Given the description of an element on the screen output the (x, y) to click on. 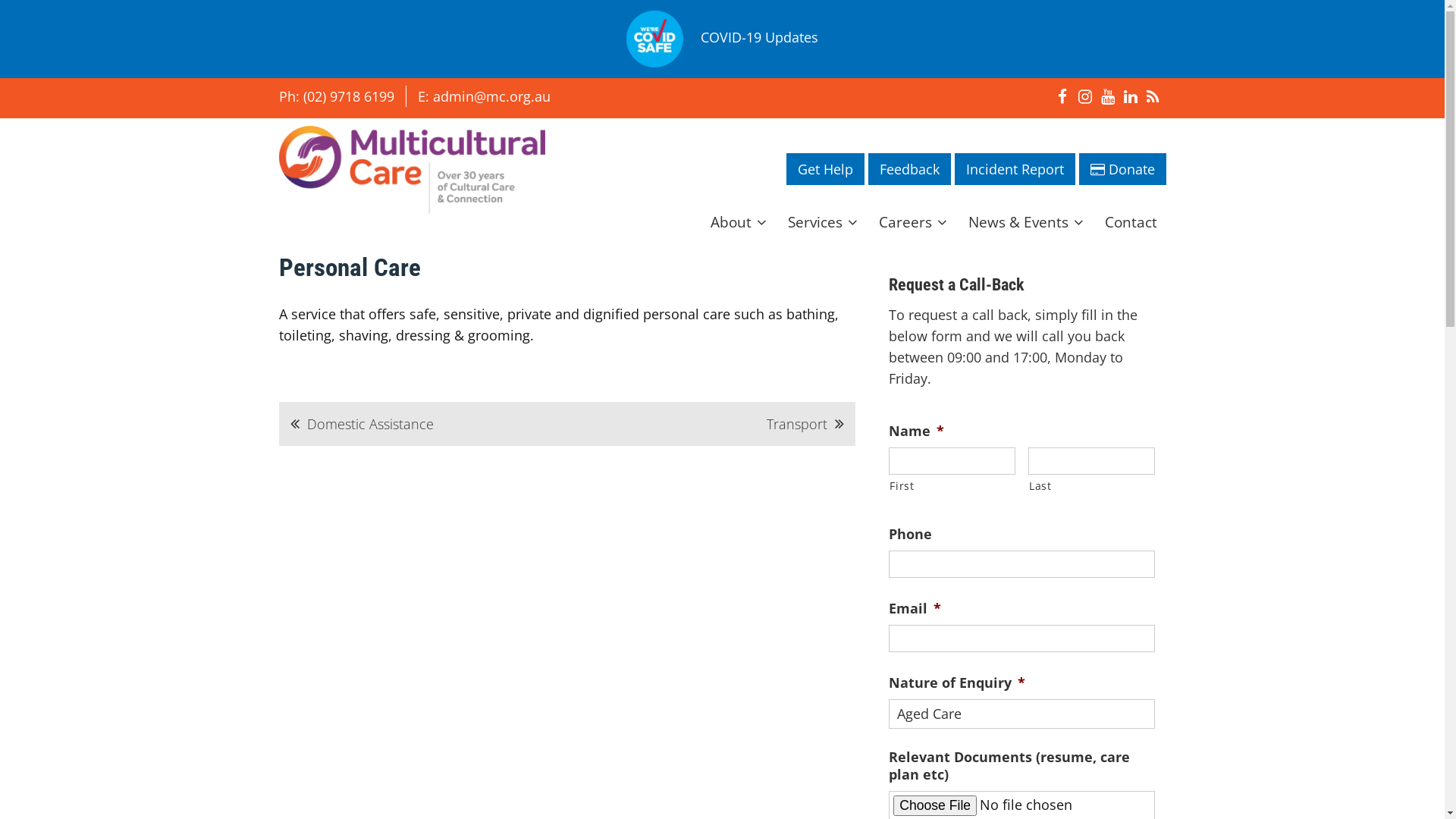
News & Events Element type: text (1024, 221)
Join us on Linked-In Element type: hover (1130, 95)
View our Youtube channel Element type: hover (1107, 95)
Like us on Facebook Element type: hover (1062, 95)
Contact Element type: text (1130, 221)
E: admin@mc.org.au Element type: text (483, 96)
Back to Multicultural Care homepage Element type: hover (412, 169)
Donate Element type: text (1121, 169)
Read Our RSS Feed Element type: hover (1153, 95)
Careers Element type: text (911, 221)
Services Element type: text (821, 221)
Incident Report Element type: text (1013, 169)
Ph: (02) 9718 6199 Element type: text (336, 96)
Transport Element type: text (805, 423)
About Element type: text (737, 221)
Follow us on Instagram Element type: hover (1085, 95)
COVID-19 Updates Element type: text (759, 38)
Get Help Element type: text (824, 169)
Feedback Element type: text (908, 169)
Domestic Assistance Element type: text (361, 423)
